Given the description of an element on the screen output the (x, y) to click on. 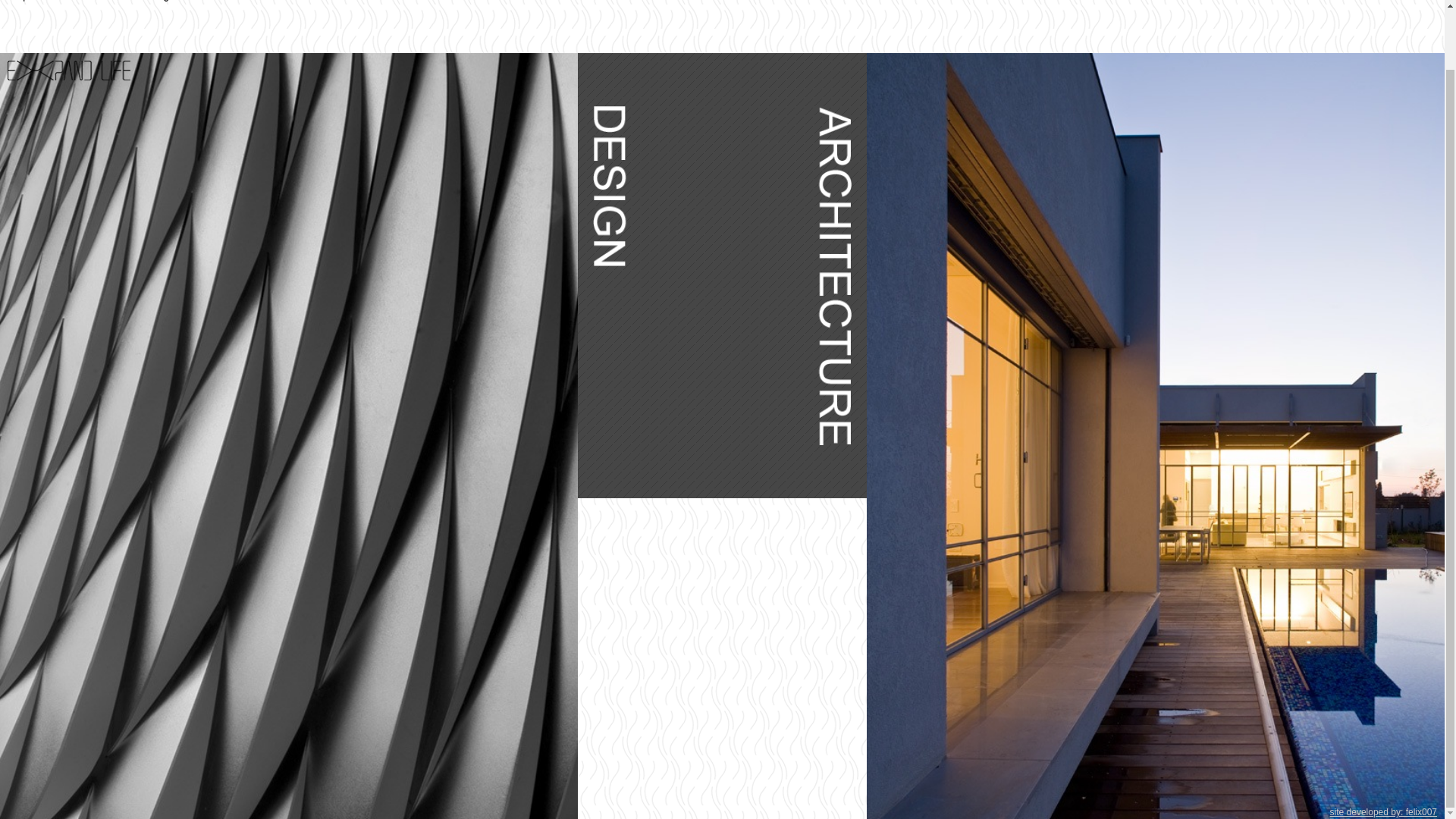
site developed by: felix007 (1383, 747)
